Given the description of an element on the screen output the (x, y) to click on. 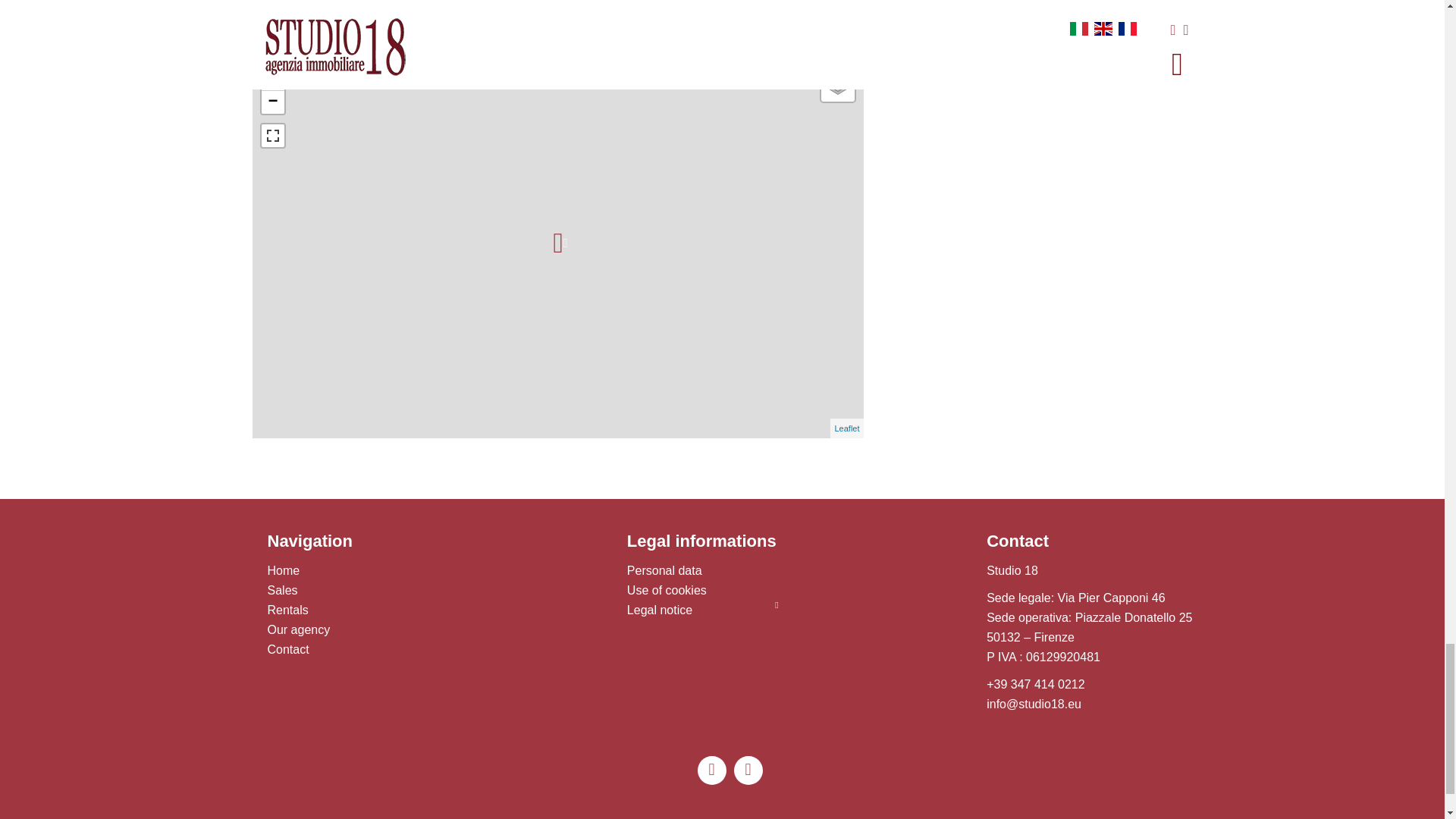
Home (282, 570)
Sales (281, 590)
View Fullscreen (271, 135)
Personal data (664, 570)
Use of cookies (666, 590)
Studio 18 (1012, 570)
A JS library for interactive maps (846, 428)
Legal notice (660, 609)
Our agency (298, 629)
Contact (287, 649)
Layers (837, 84)
Rentals (286, 609)
Zoom out (271, 101)
Leaflet (846, 428)
Zoom in (271, 78)
